Given the description of an element on the screen output the (x, y) to click on. 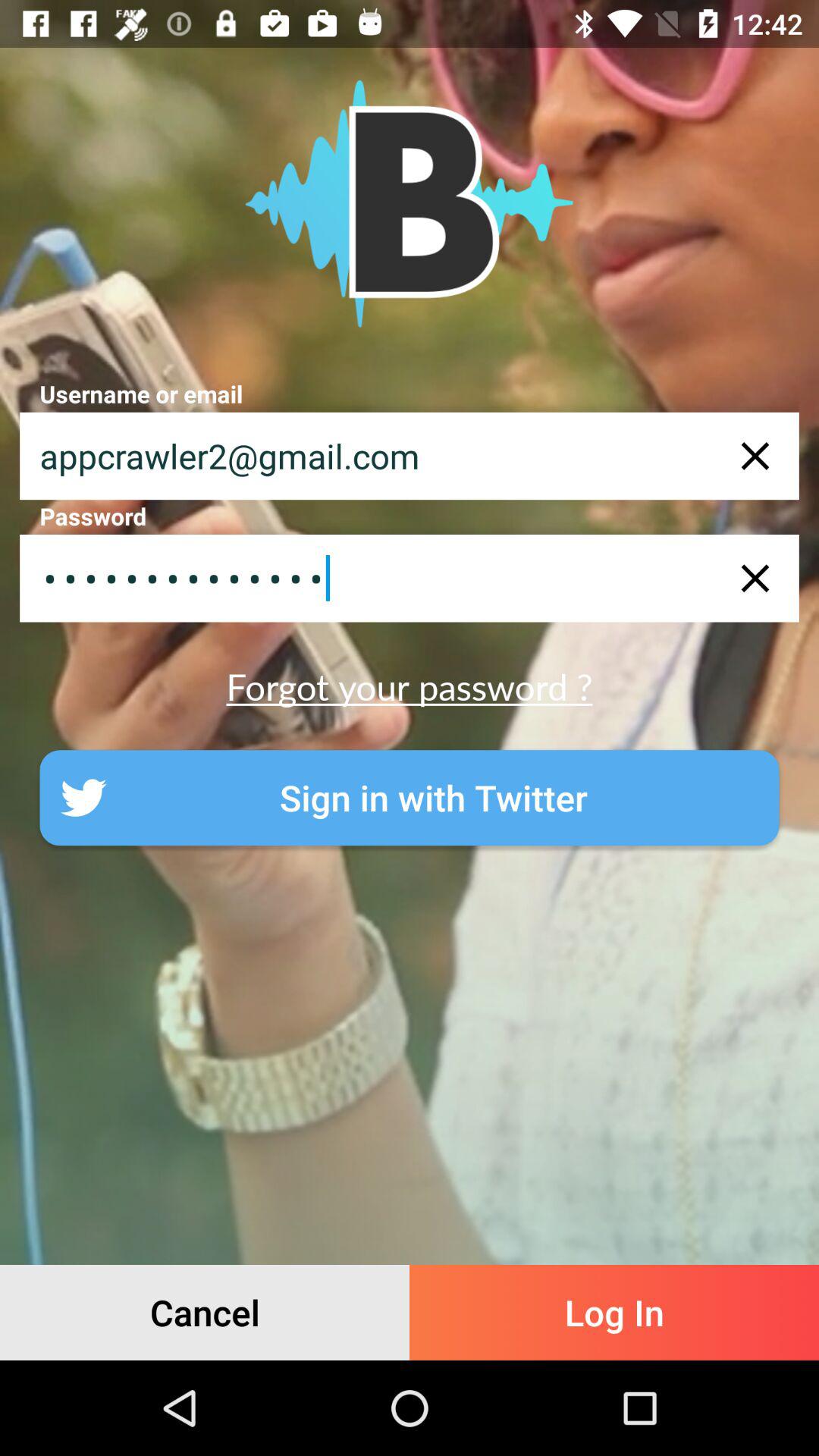
turn on log in item (614, 1312)
